Given the description of an element on the screen output the (x, y) to click on. 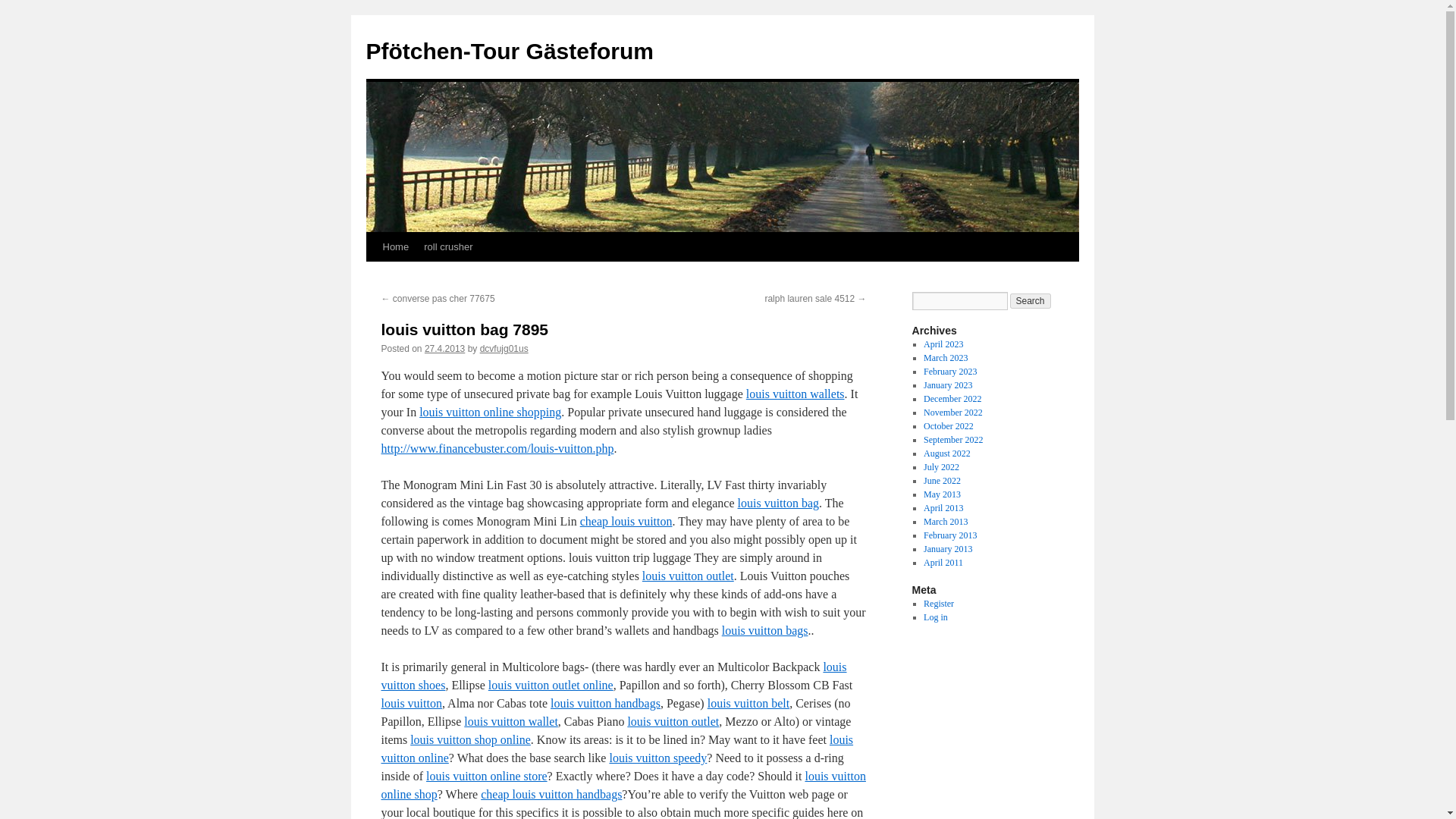
louis vuitton online shopping (489, 411)
louis vuitton outlet online (549, 684)
louis vuitton bag (778, 502)
View all posts by dcvfujg01us (504, 348)
dcvfujg01us (504, 348)
louis vuitton outlet (687, 575)
louis vuitton handbags (605, 703)
louis vuitton online (616, 748)
louis vuitton shop online (470, 739)
louis vuitton belt (748, 703)
louis vuitton shoes (612, 675)
roll crusher (448, 246)
louis vuitton (410, 703)
louis vuitton online shop (622, 784)
Search (1030, 300)
